Given the description of an element on the screen output the (x, y) to click on. 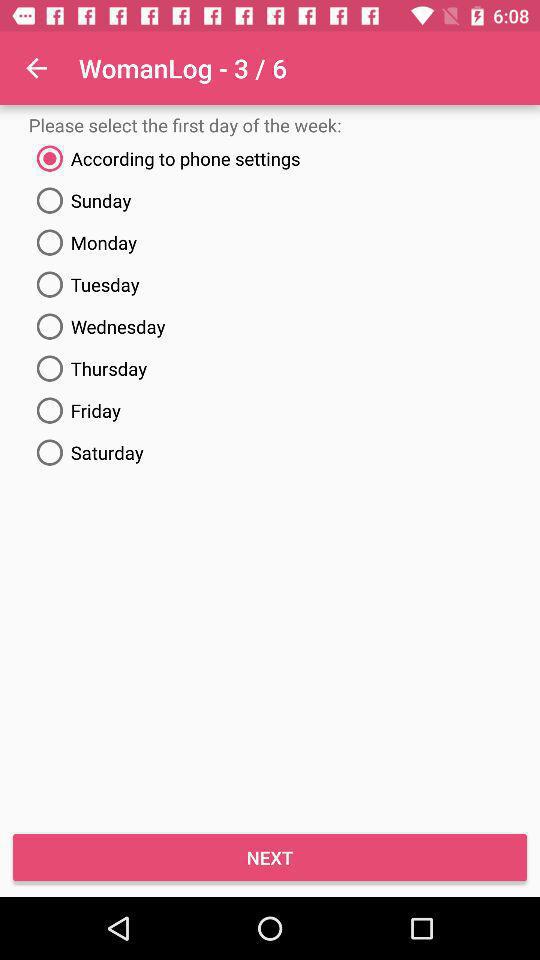
launch tuesday item (269, 284)
